Given the description of an element on the screen output the (x, y) to click on. 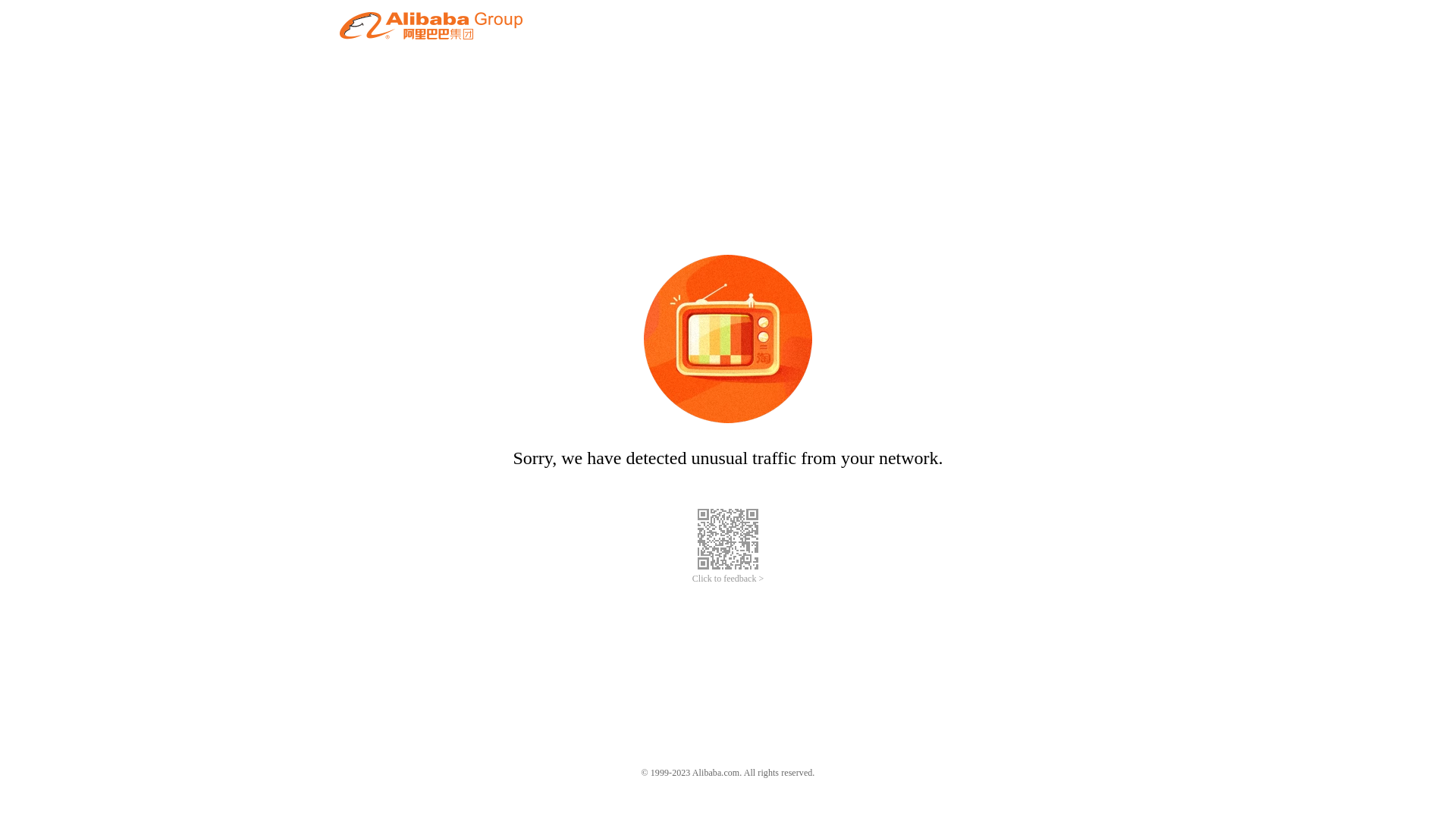
Click to feedback > Element type: text (727, 578)
